Given the description of an element on the screen output the (x, y) to click on. 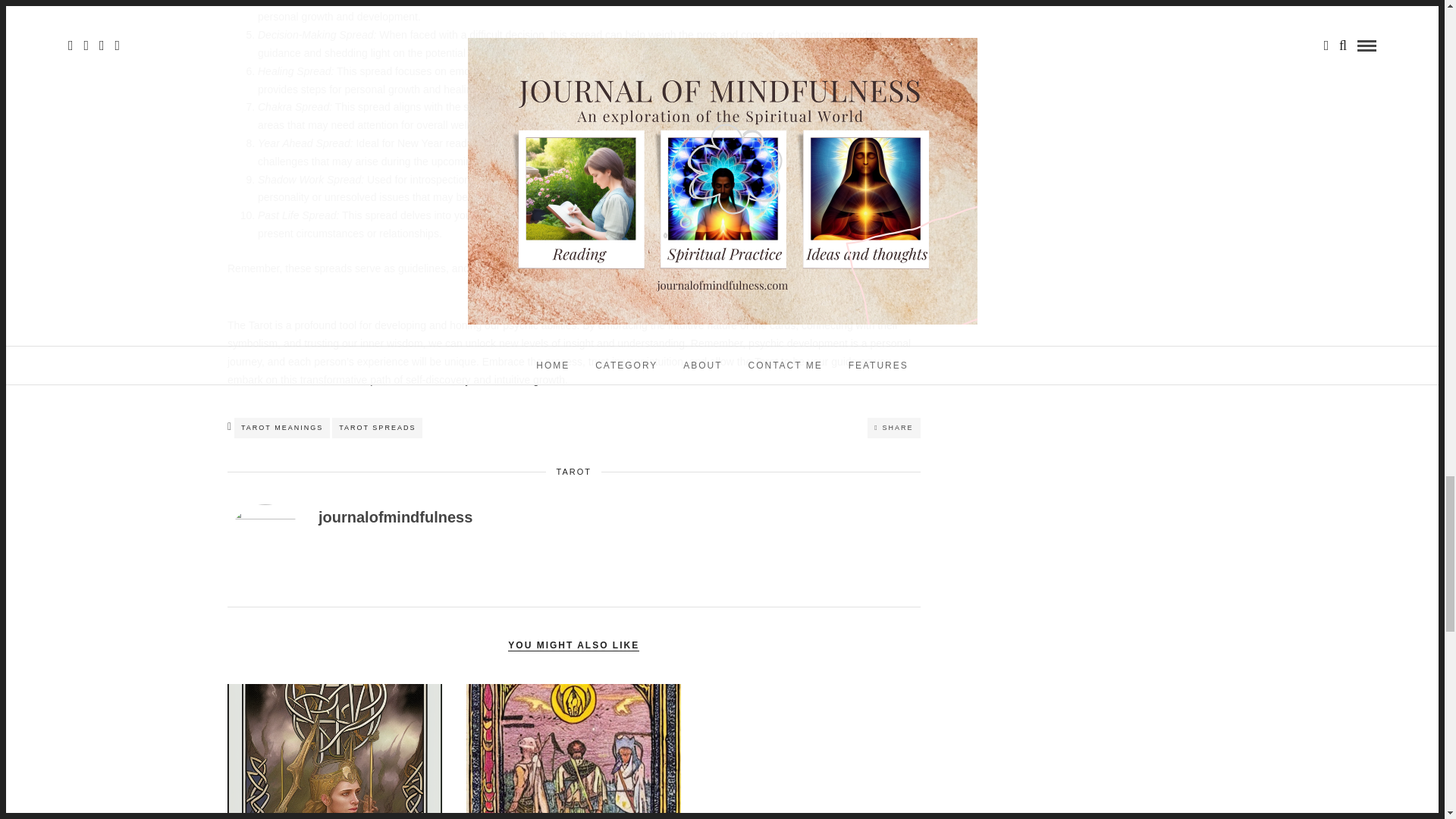
TAROT MEANINGS (282, 427)
TAROT (573, 470)
TAROT SPREADS (376, 427)
